Given the description of an element on the screen output the (x, y) to click on. 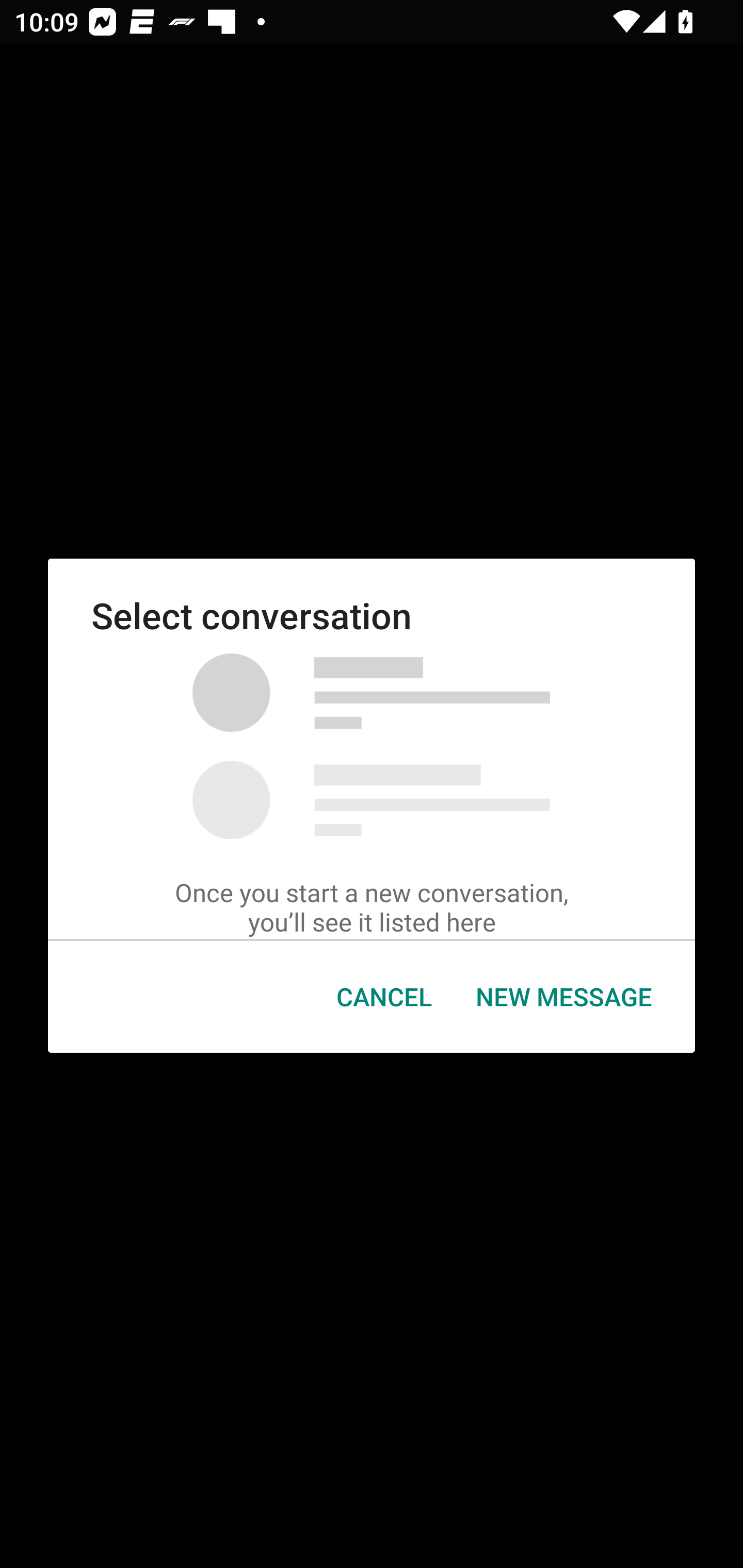
CANCEL (384, 996)
NEW MESSAGE (563, 996)
